Given the description of an element on the screen output the (x, y) to click on. 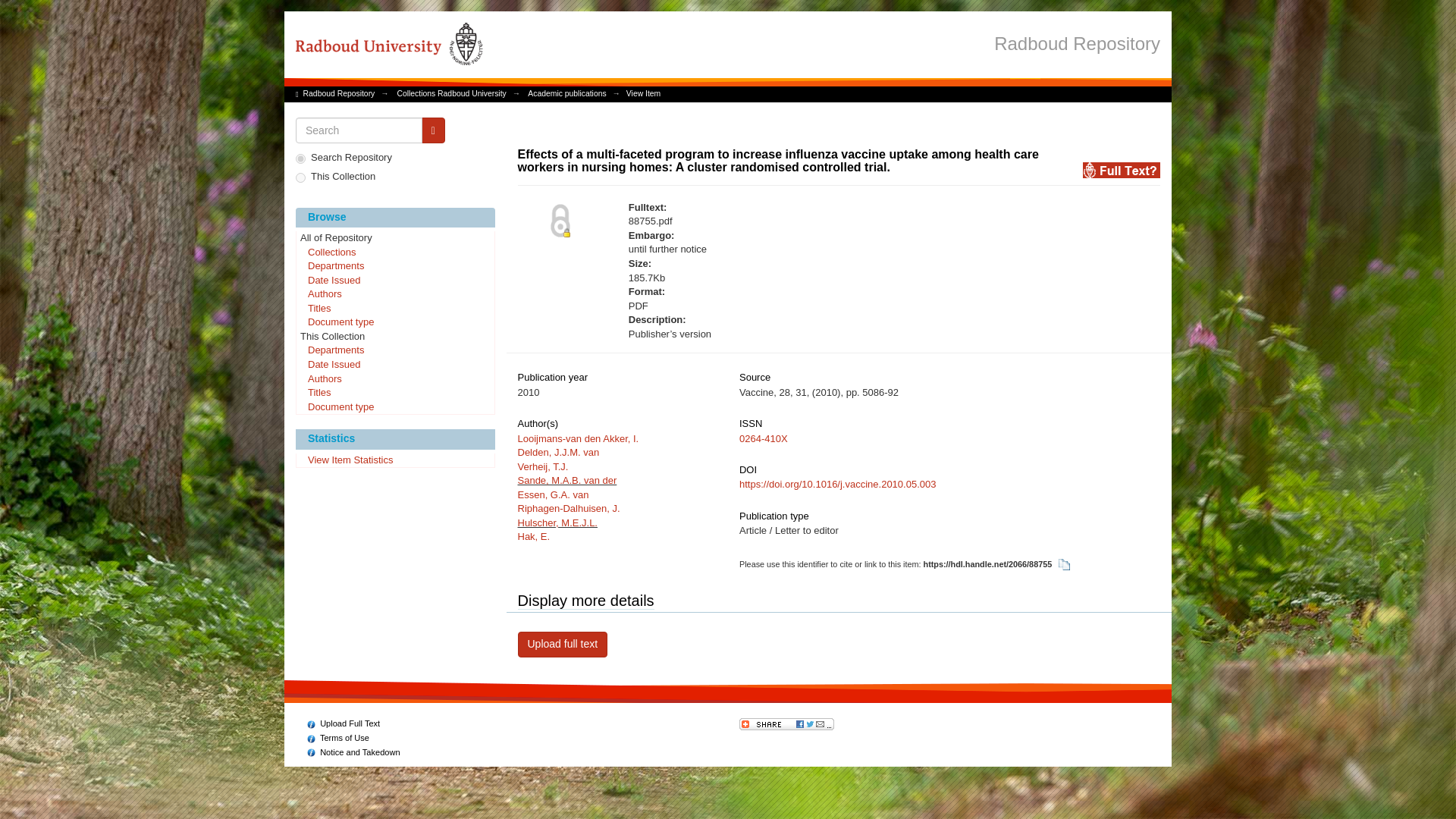
Information about the File Upload (343, 723)
Academic publications (566, 93)
Information about the Notice and Takedown Procedure (353, 751)
Go (433, 130)
0264-410X (763, 438)
88755.pdf (783, 221)
Document type (395, 407)
Essen, G.A. van (552, 494)
Hak, E. (533, 536)
Radboud Repository (1077, 43)
